Given the description of an element on the screen output the (x, y) to click on. 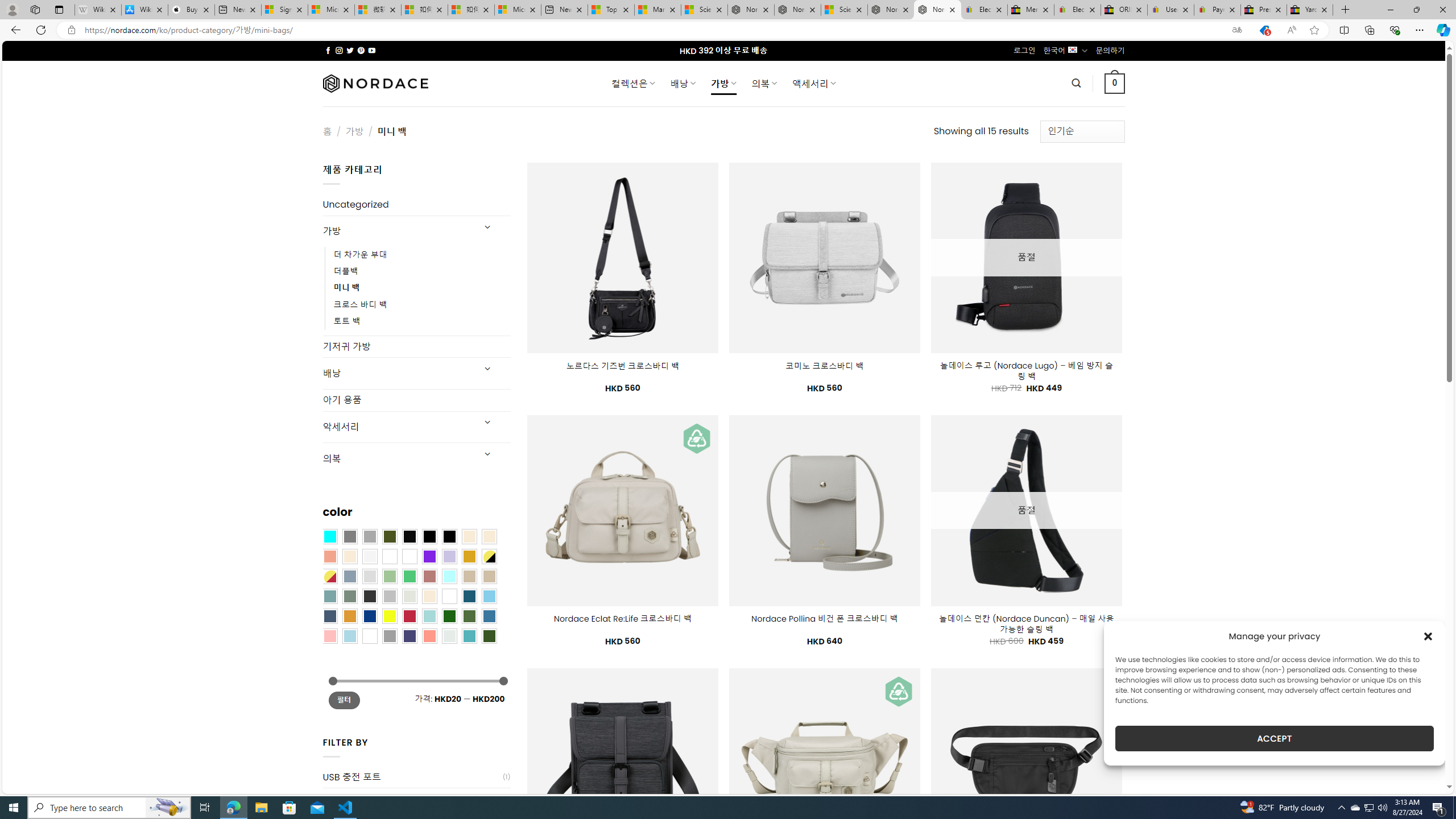
Buy iPad - Apple (191, 9)
Cream (349, 555)
